Given the description of an element on the screen output the (x, y) to click on. 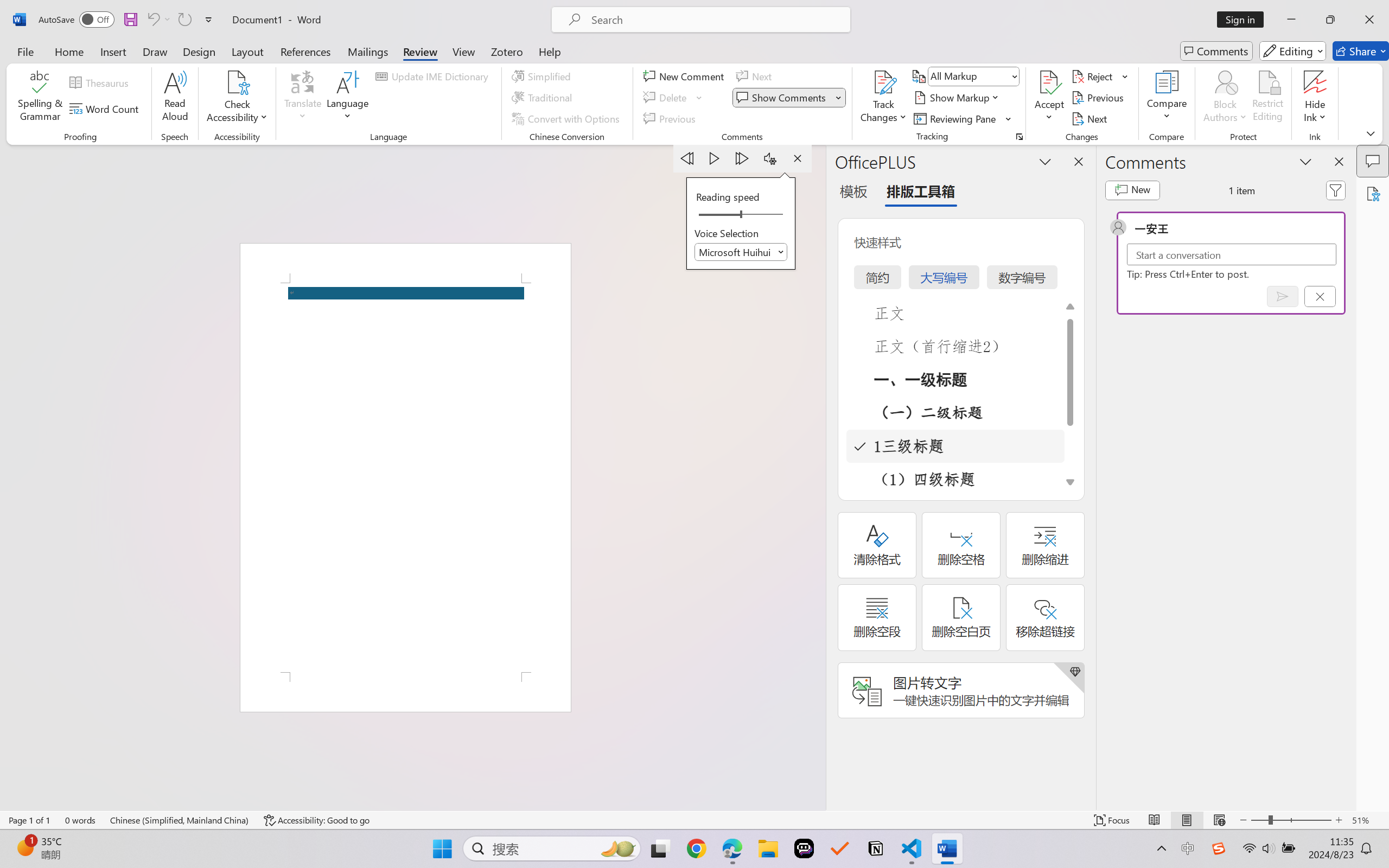
Start a conversation (1231, 254)
Filter (1335, 190)
Editing (1292, 50)
Accept (1049, 97)
Display for Review (973, 75)
Hide Ink (1315, 97)
Post comment (Ctrl + Enter) (1282, 296)
Spelling & Grammar (39, 97)
Play (715, 158)
